Given the description of an element on the screen output the (x, y) to click on. 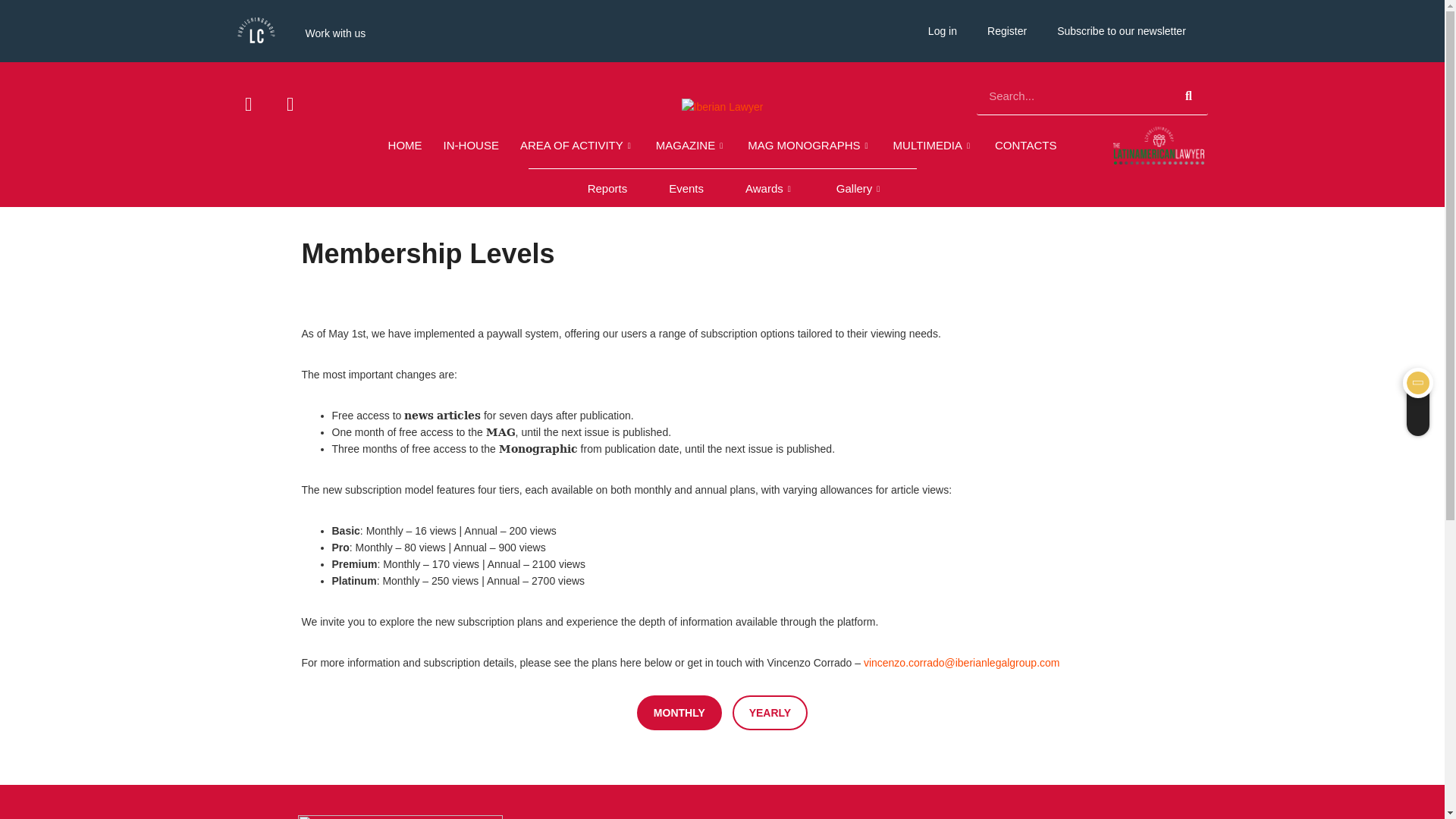
Subscribe to our newsletter (1121, 30)
Log in (942, 30)
Work with us (334, 33)
HOME (404, 145)
Register (1007, 30)
